Given the description of an element on the screen output the (x, y) to click on. 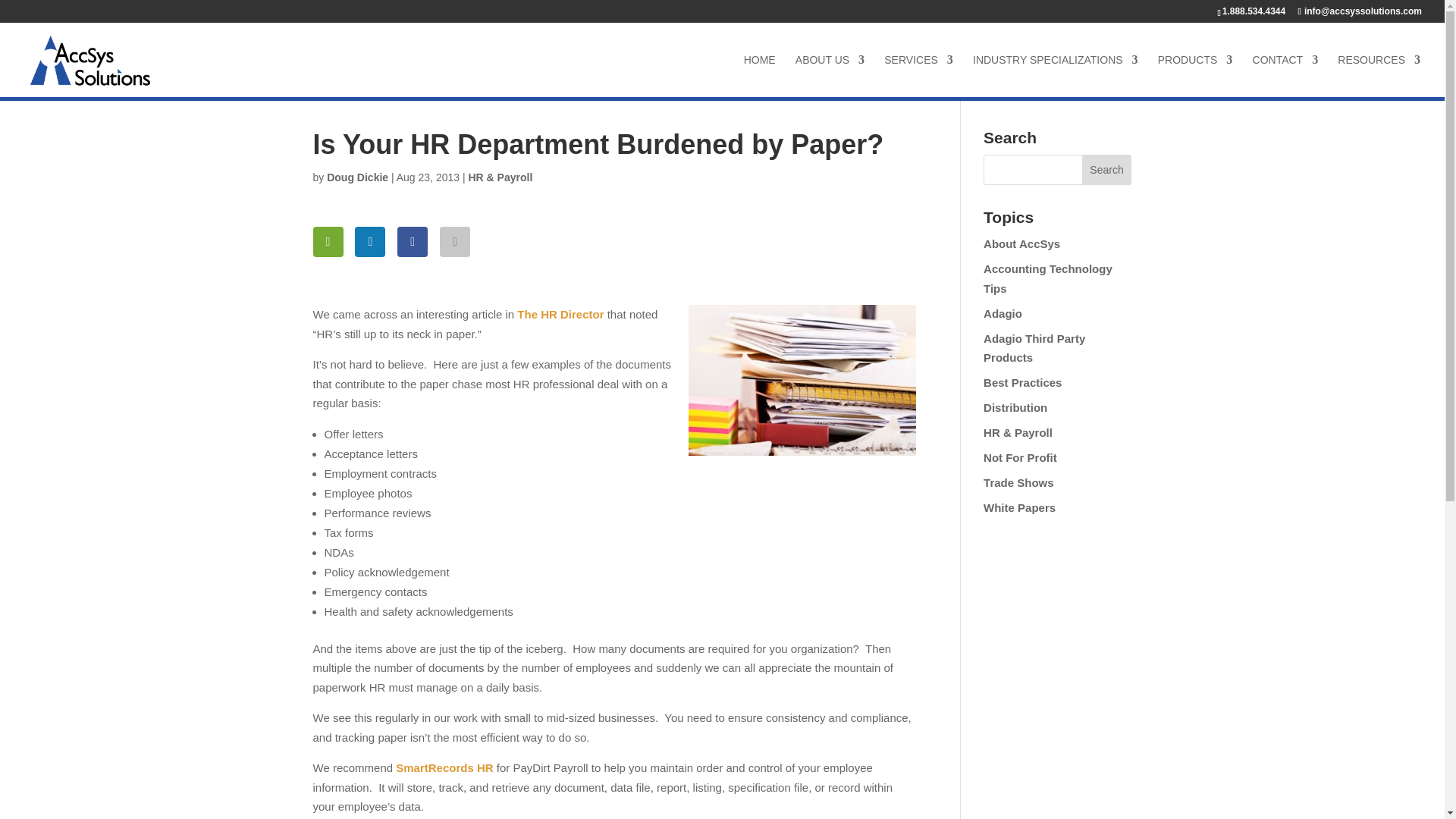
PRODUCTS (1195, 75)
ABOUT US (829, 75)
About AccSys (1021, 243)
The HR Director (560, 314)
CONTACT (1285, 75)
SmartRecords HR (444, 767)
Posts by Doug Dickie (357, 177)
INDUSTRY SPECIALIZATIONS (1055, 75)
RESOURCES (1379, 75)
Search (1106, 169)
